Given the description of an element on the screen output the (x, y) to click on. 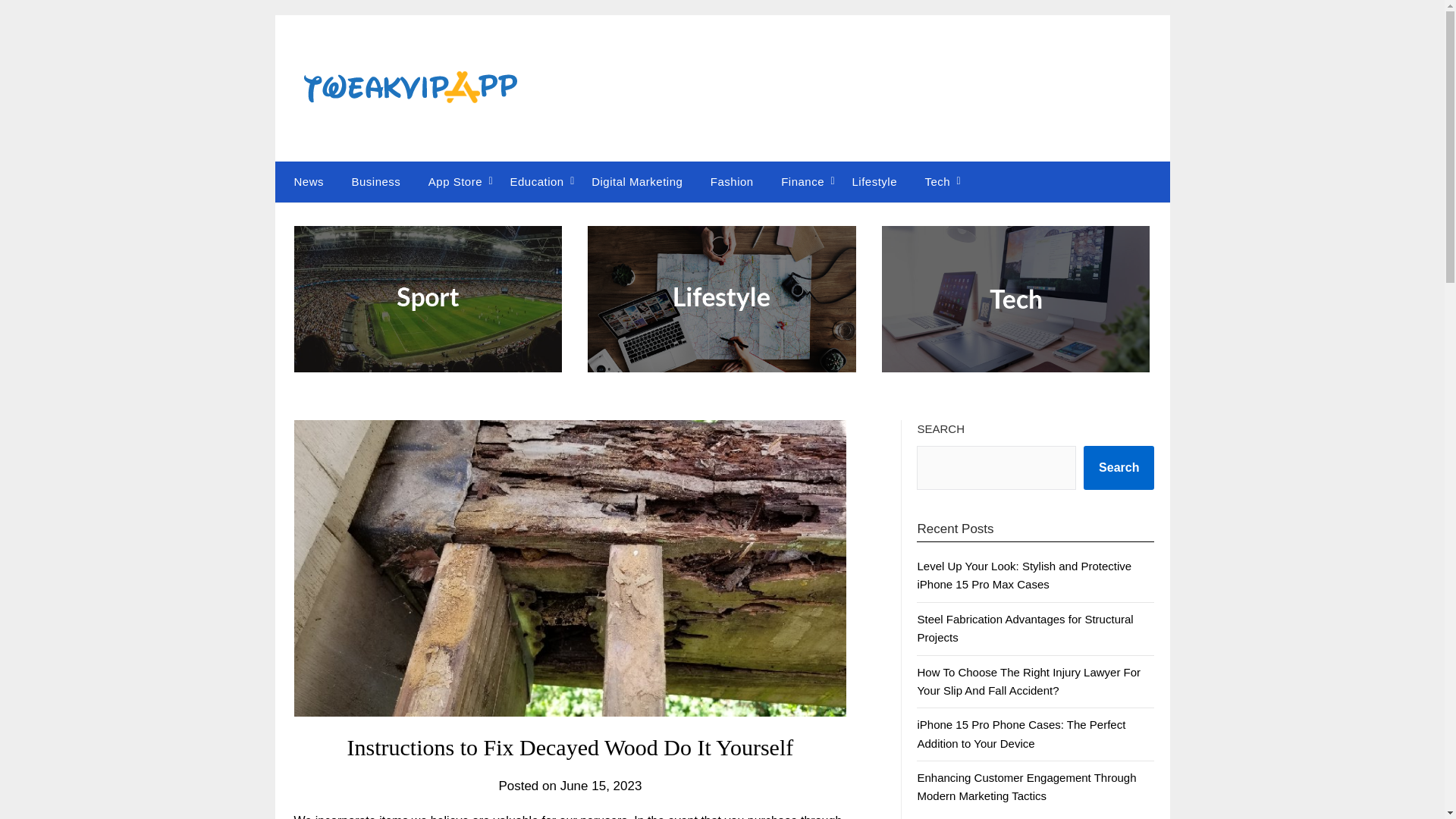
Search (1118, 467)
Tech (937, 181)
Business (375, 181)
Steel Fabrication Advantages for Structural Projects (1024, 627)
App Store (455, 181)
News (305, 181)
Digital Marketing (636, 181)
Lifestyle (874, 181)
Education (536, 181)
Finance (801, 181)
Fashion (731, 181)
